Given the description of an element on the screen output the (x, y) to click on. 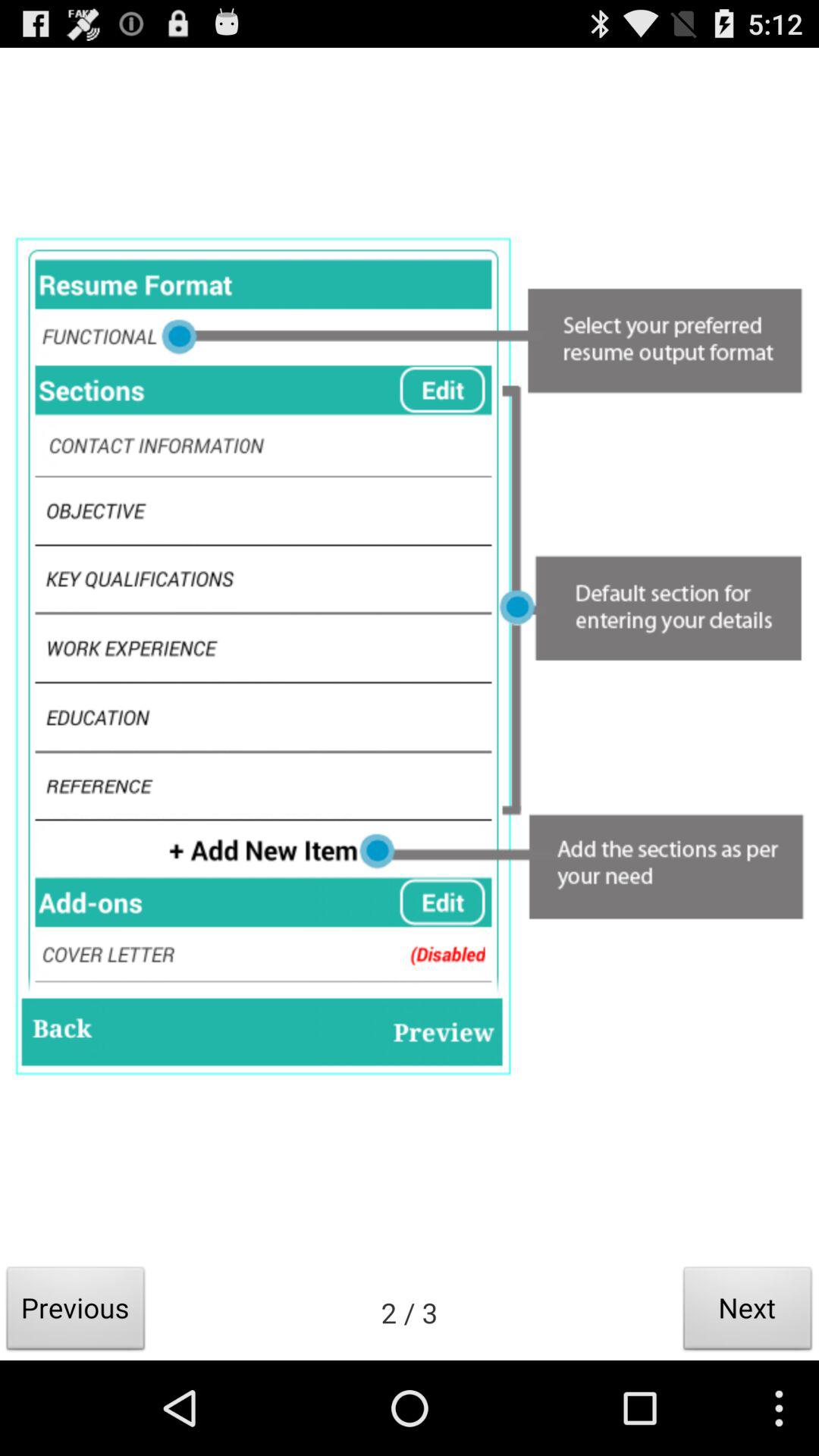
choose the item at the bottom right corner (747, 1312)
